Given the description of an element on the screen output the (x, y) to click on. 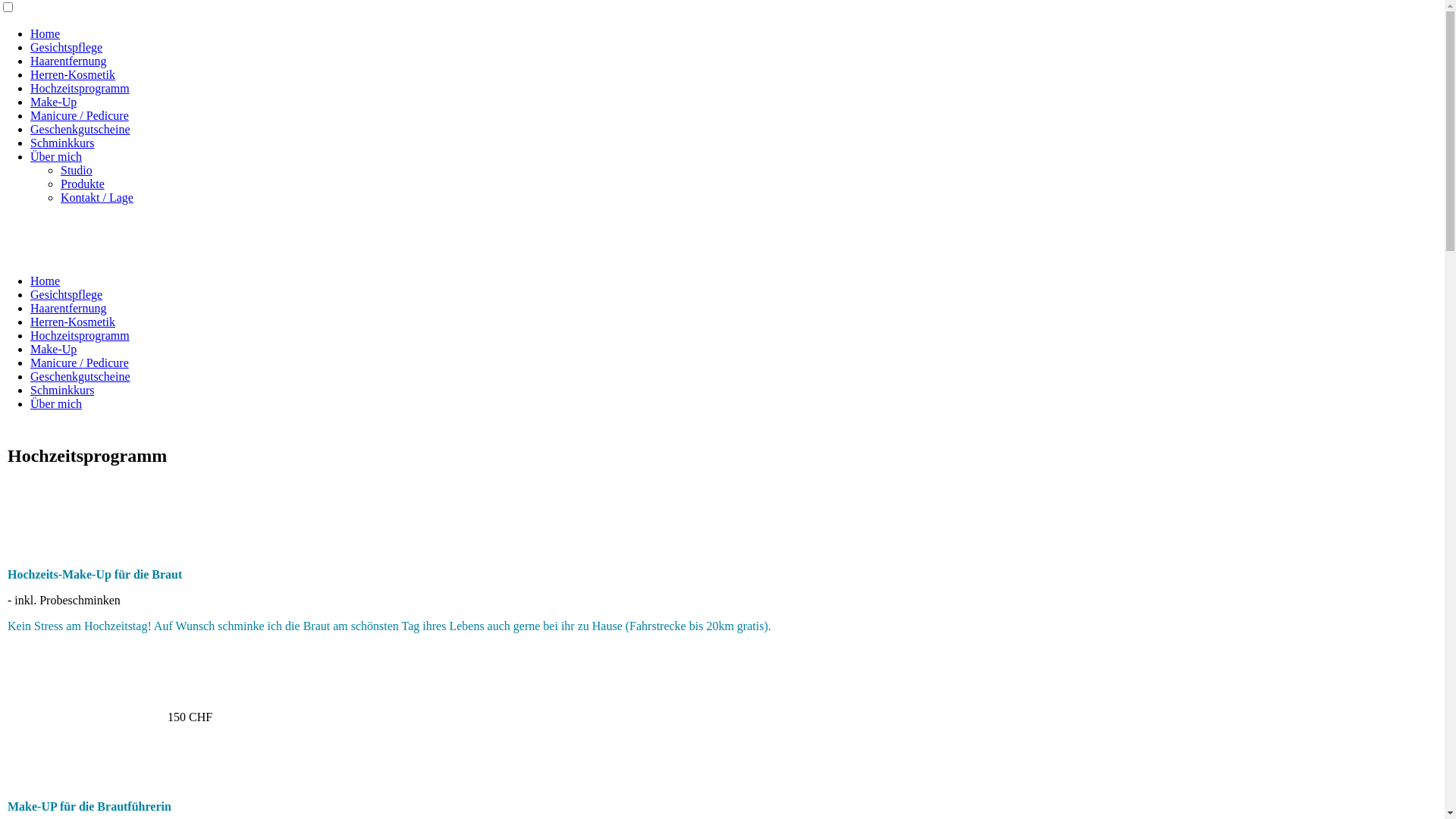
Haarentfernung Element type: text (68, 307)
Manicure / Pedicure Element type: text (79, 362)
Make-Up Element type: text (53, 101)
Home Element type: text (44, 33)
Studio Element type: text (76, 169)
Hochzeitsprogramm Element type: text (79, 87)
Schminkkurs Element type: text (62, 389)
Make-Up Element type: text (53, 348)
Manicure / Pedicure Element type: text (79, 115)
Kontakt / Lage Element type: text (96, 197)
Haarentfernung Element type: text (68, 60)
Herren-Kosmetik Element type: text (72, 74)
Gesichtspflege Element type: text (66, 294)
Gesichtspflege Element type: text (66, 46)
Produkte Element type: text (82, 183)
Geschenkgutscheine Element type: text (80, 128)
Home Element type: text (44, 280)
Geschenkgutscheine Element type: text (80, 376)
Schminkkurs Element type: text (62, 142)
Herren-Kosmetik Element type: text (72, 321)
Hochzeitsprogramm Element type: text (79, 335)
